Given the description of an element on the screen output the (x, y) to click on. 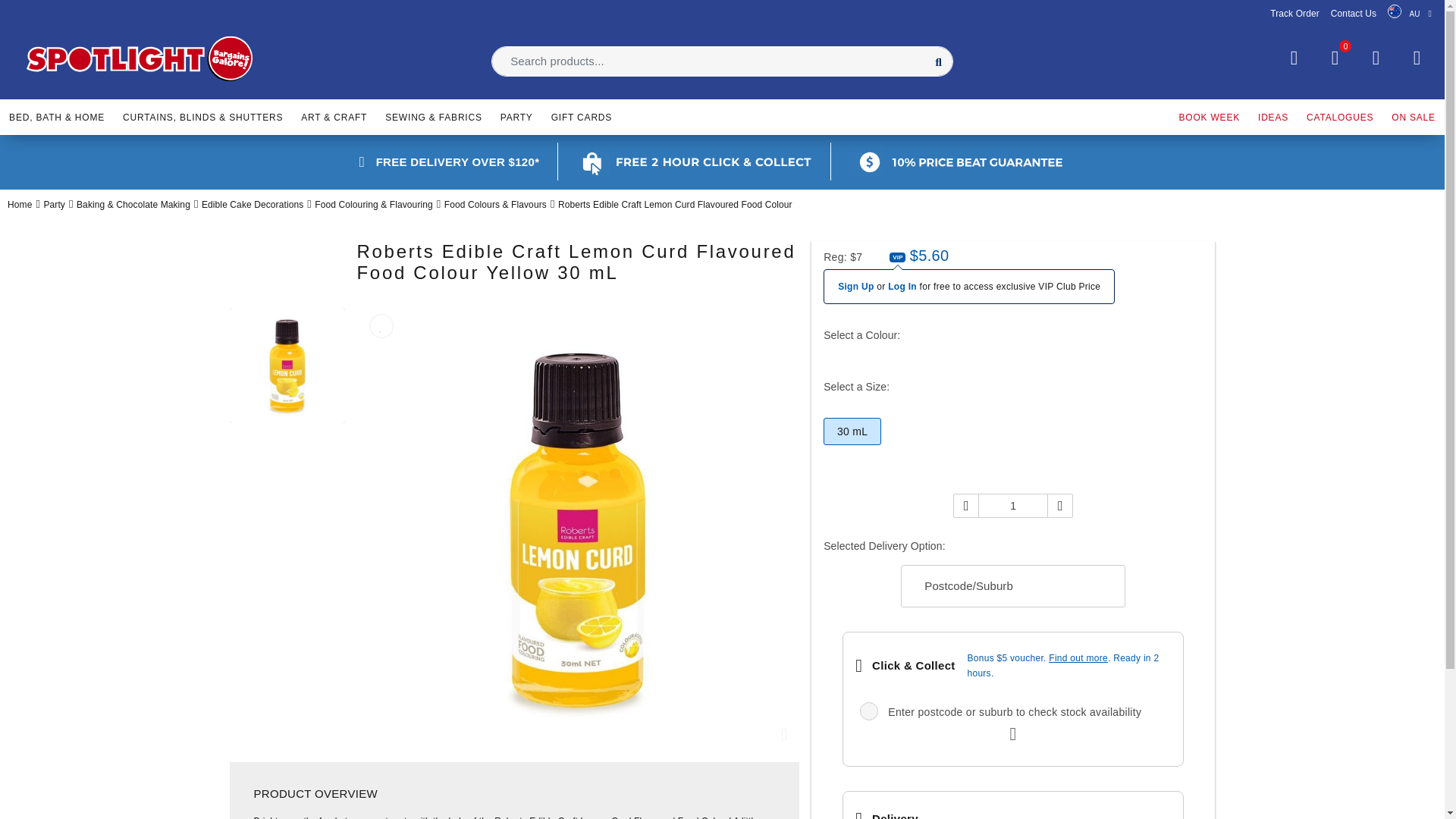
IDEAS (1273, 115)
Gift Cards (581, 115)
0 (1334, 57)
Book Week (1209, 115)
Party (516, 115)
Track Order (1294, 13)
Contact Us (1352, 13)
Search for a product, brand or project (721, 60)
Spotlight (139, 58)
Track Order (1294, 13)
